Given the description of an element on the screen output the (x, y) to click on. 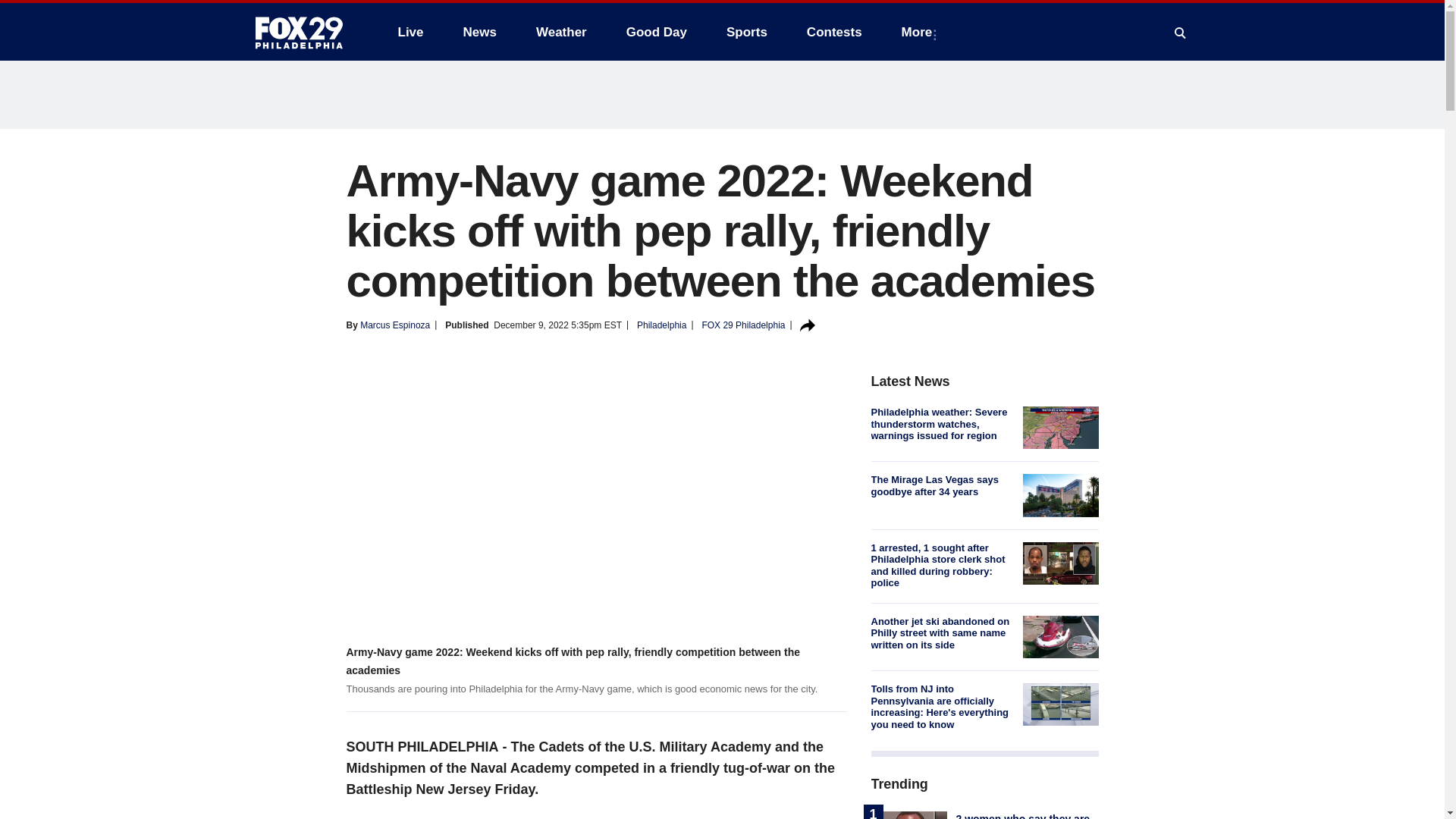
Live (410, 32)
More (919, 32)
Weather (561, 32)
Contests (834, 32)
News (479, 32)
Sports (746, 32)
Good Day (656, 32)
